Given the description of an element on the screen output the (x, y) to click on. 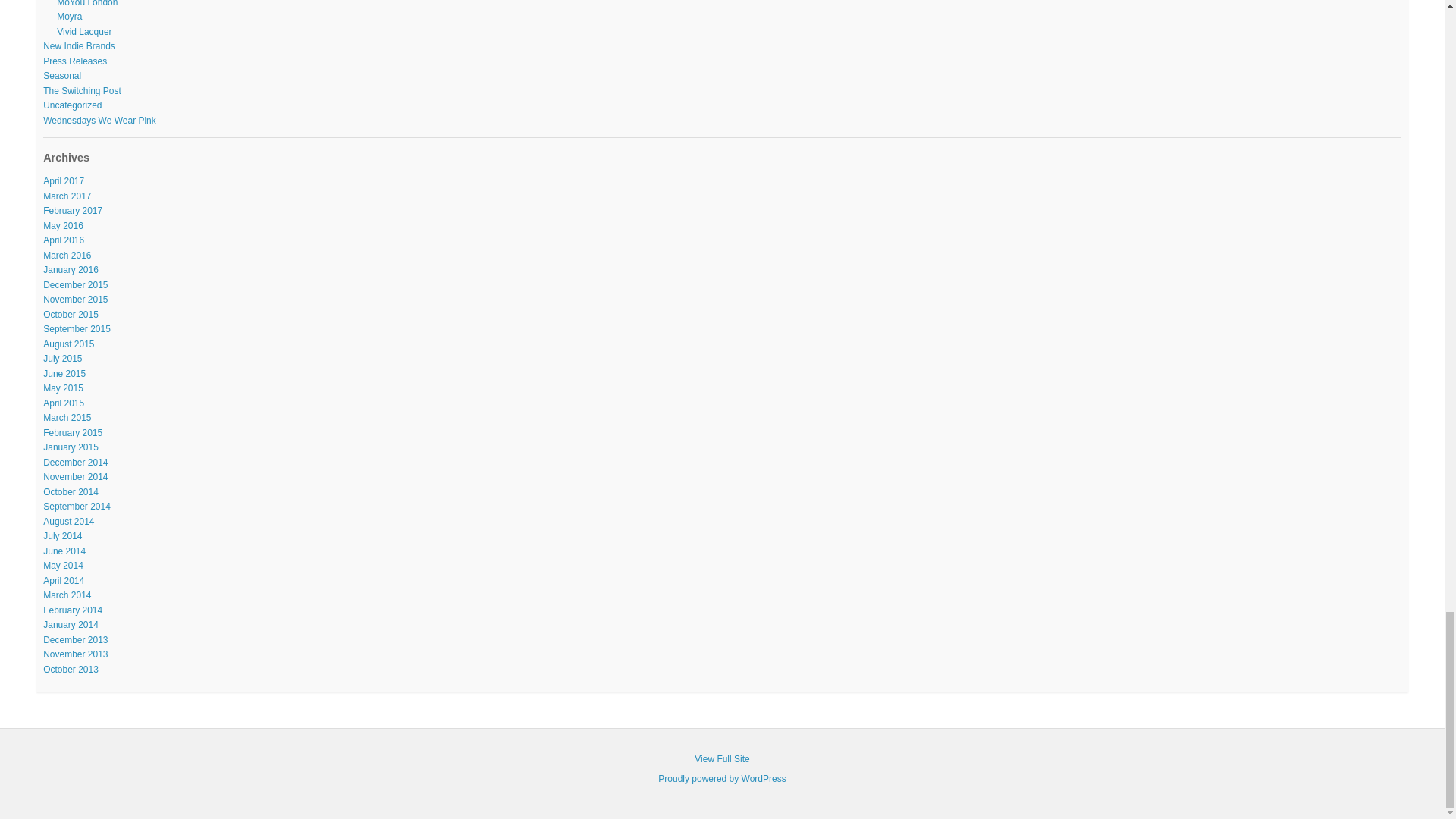
Semantic Personal Publishing Platform (722, 778)
